Given the description of an element on the screen output the (x, y) to click on. 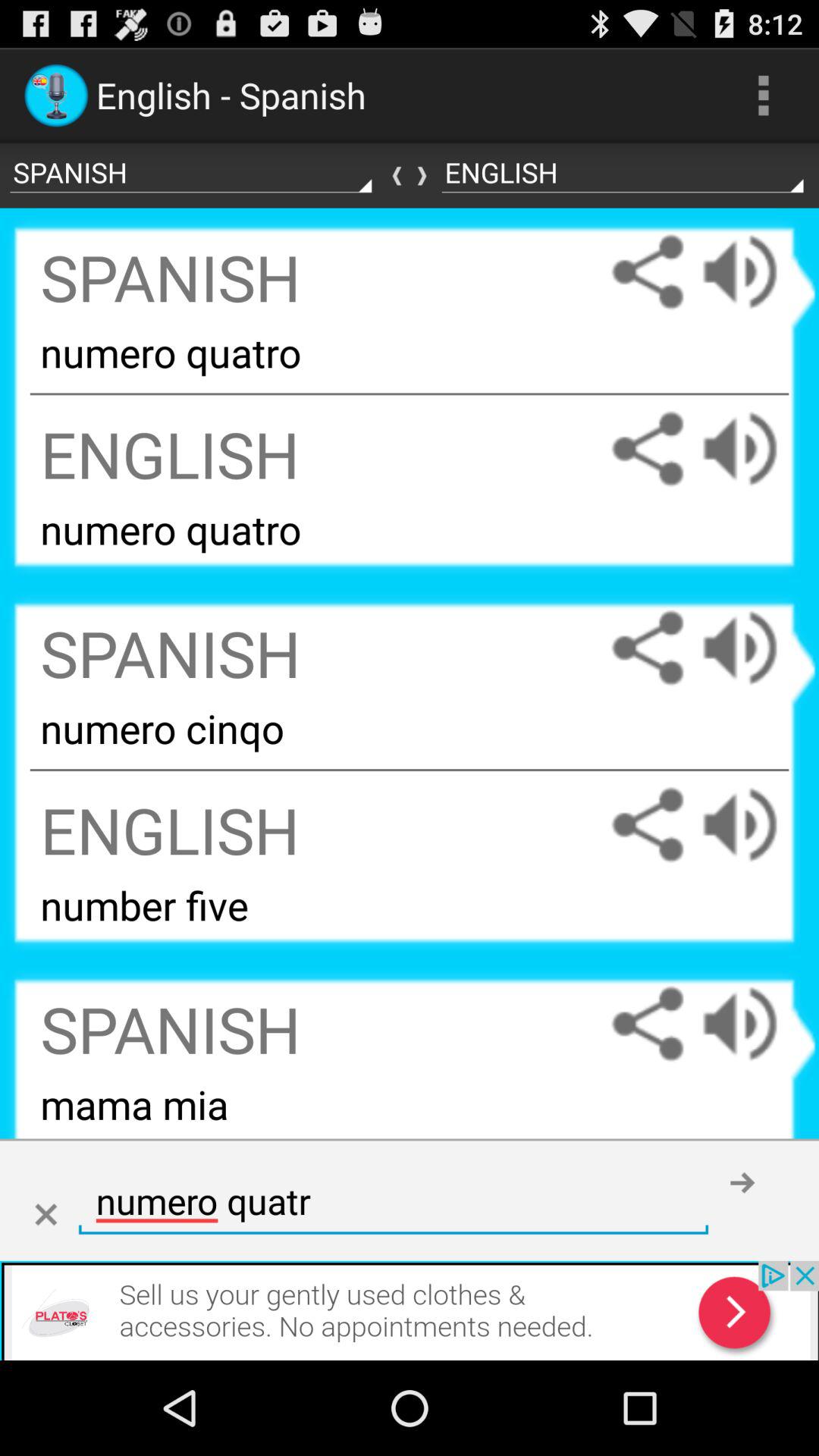
select the audio play (754, 647)
